Given the description of an element on the screen output the (x, y) to click on. 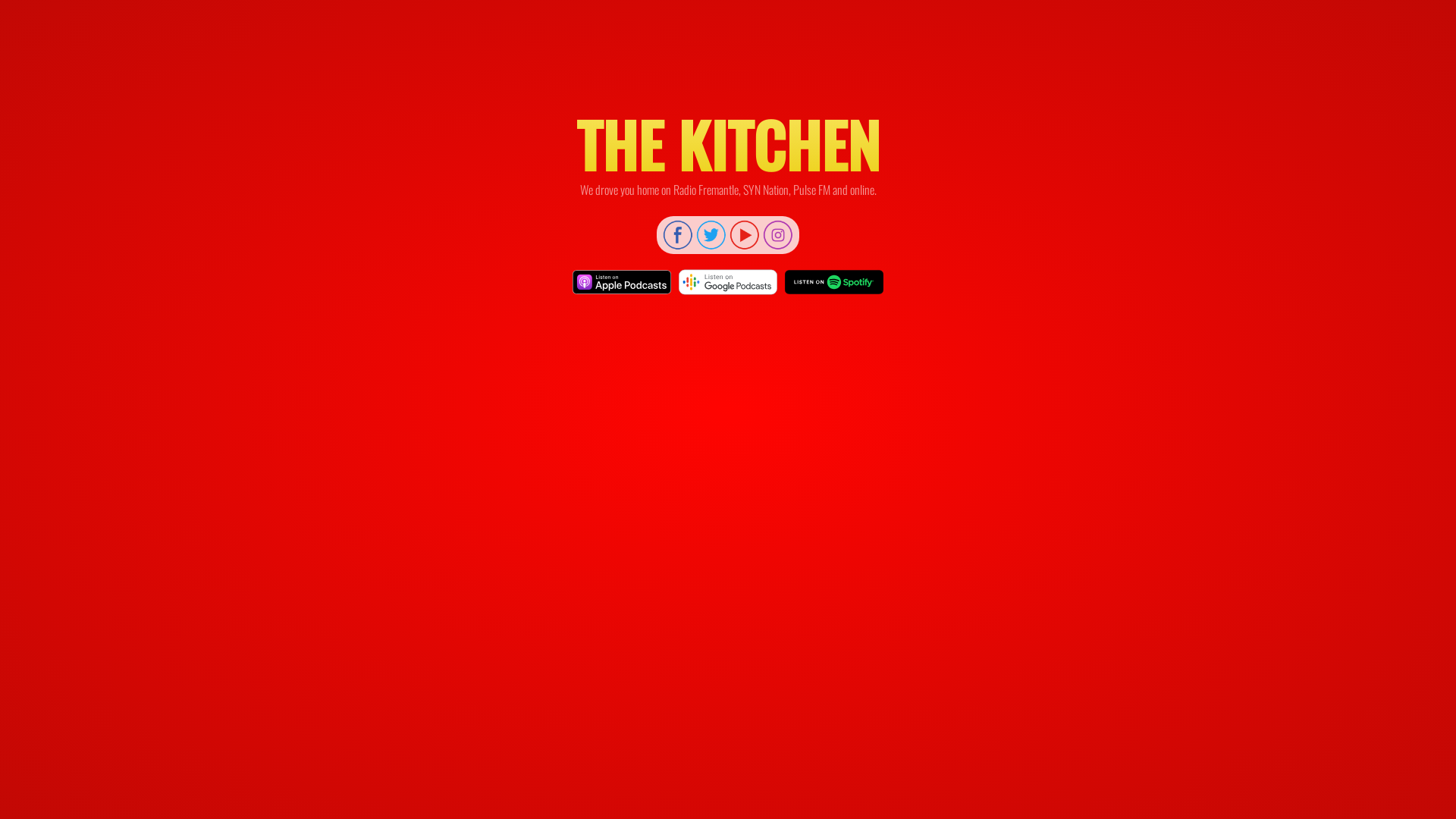
YouTube video player Element type: hover (727, 455)
